Given the description of an element on the screen output the (x, y) to click on. 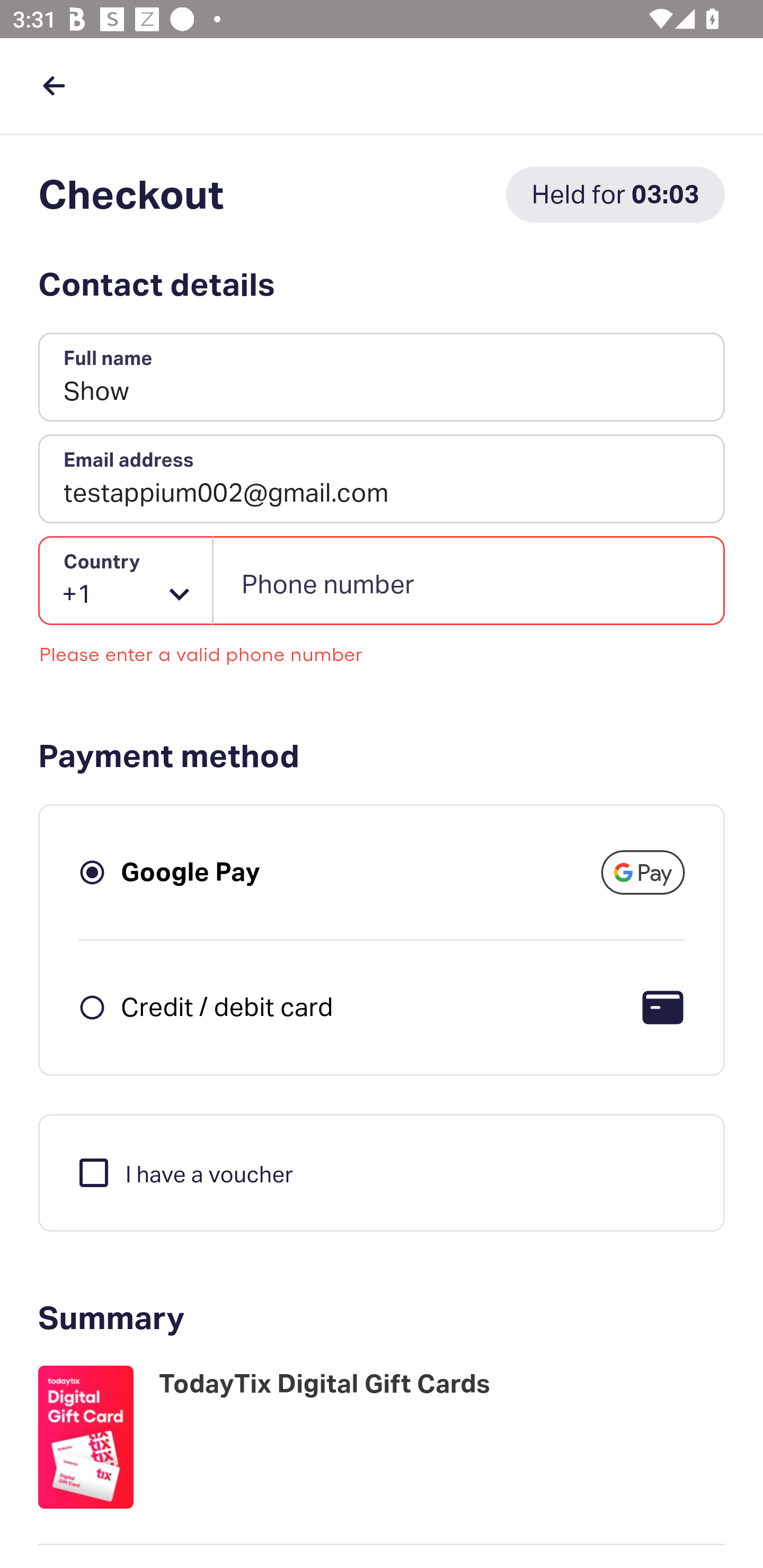
back button (53, 85)
Show (381, 377)
testappium002@gmail.com (381, 478)
  +1 (126, 580)
Google Pay (190, 871)
Credit / debit card (227, 1006)
I have a voucher (183, 1171)
